Given the description of an element on the screen output the (x, y) to click on. 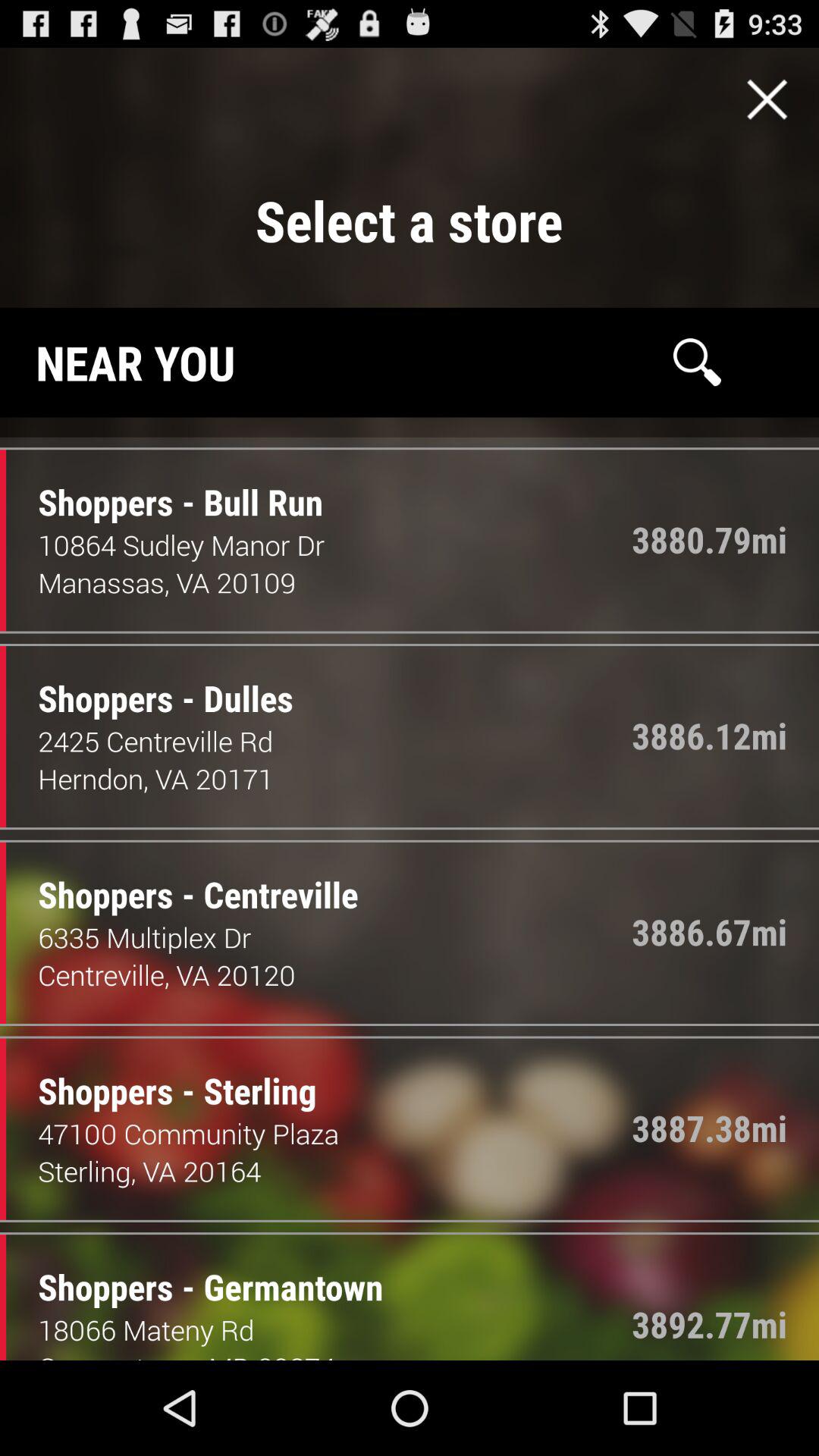
close (767, 99)
